Given the description of an element on the screen output the (x, y) to click on. 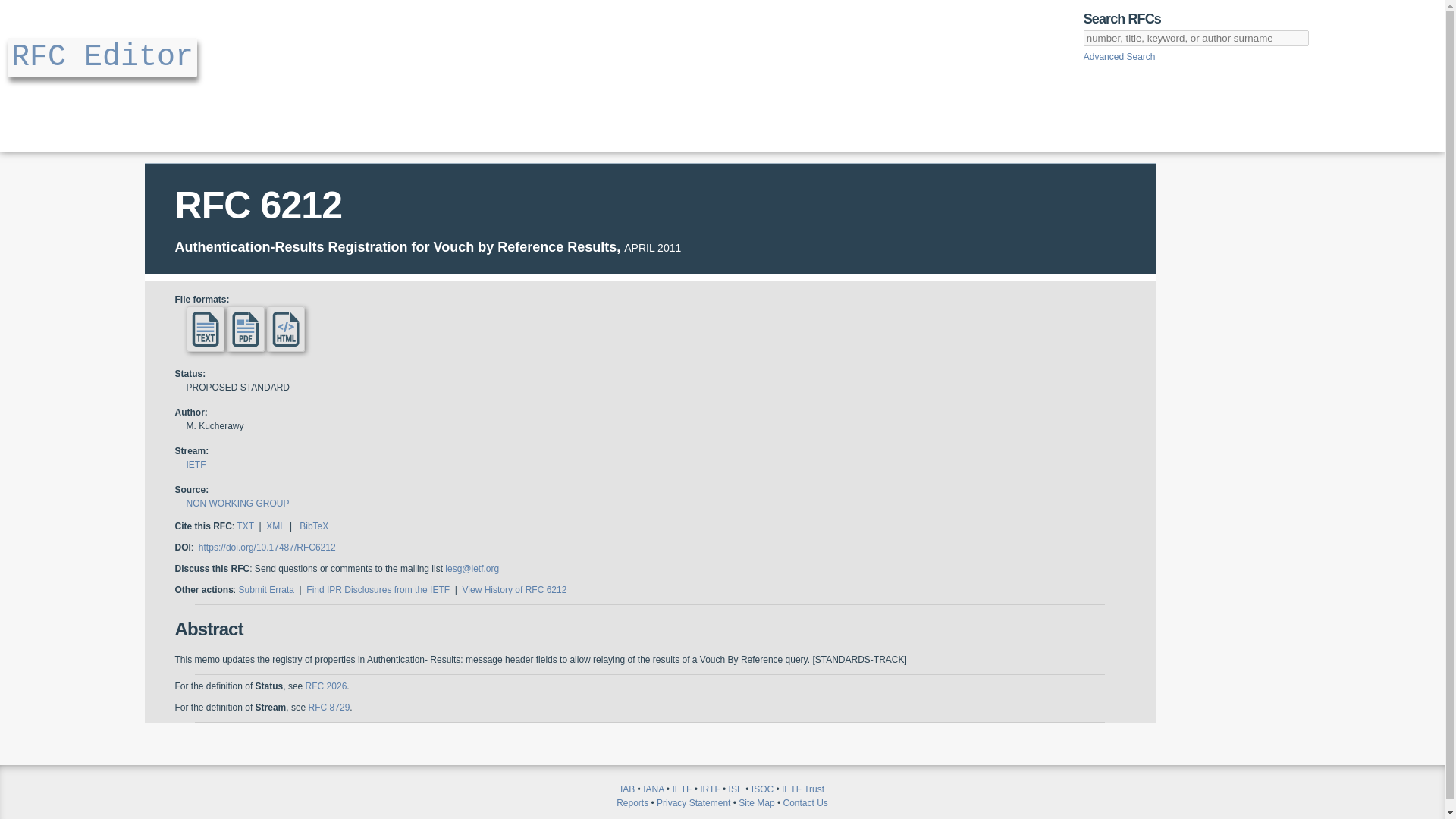
ISE (735, 788)
Find IPR Disclosures from the IETF (377, 589)
Reports (631, 802)
IRTF (709, 788)
IETF (681, 788)
RFC Editor (101, 56)
Contact Us (805, 802)
RFC 8729 (329, 706)
IETF (196, 464)
RFC 6212 (258, 205)
Privacy Statement (693, 802)
Site Map (756, 802)
RFC 2026 (326, 685)
IETF Trust (802, 788)
View History of RFC 6212 (515, 589)
